Given the description of an element on the screen output the (x, y) to click on. 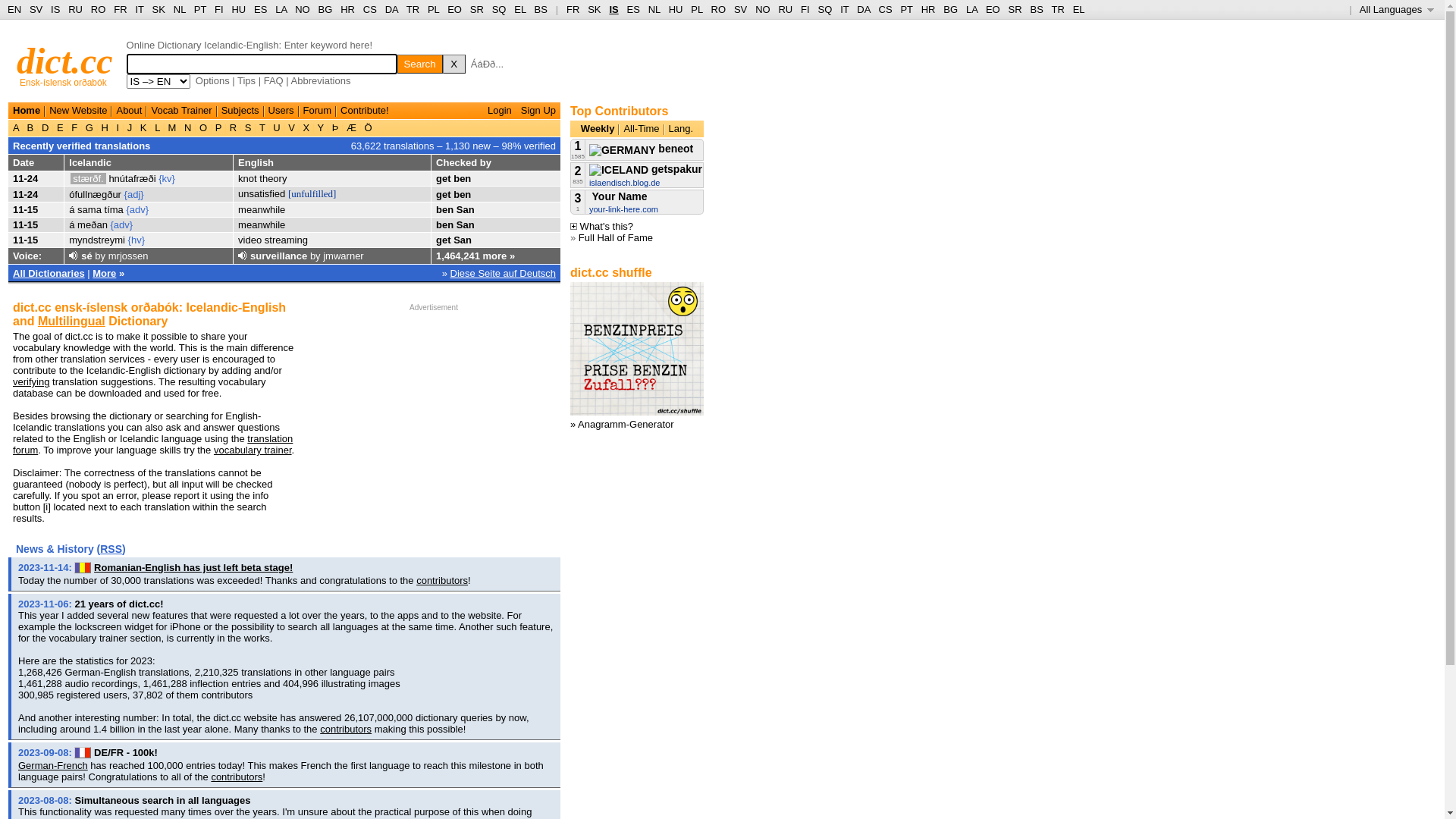
O Element type: text (202, 127)
FAQ Element type: text (273, 80)
Weekly Element type: text (597, 128)
Search Element type: text (419, 63)
San Element type: text (462, 239)
Y Element type: text (320, 127)
Romanian-English has just left beta stage! Element type: text (193, 567)
translation forum Element type: text (152, 444)
SV Element type: text (35, 9)
K Element type: text (143, 127)
your-link-here.com Element type: text (623, 208)
L Element type: text (157, 127)
beneot Element type: text (641, 148)
contributors Element type: text (441, 580)
RO Element type: text (98, 9)
TR Element type: text (412, 9)
unsatisfied [unfulfilled] Element type: text (286, 193)
meanwhile Element type: text (261, 209)
EN Element type: text (14, 9)
Multilingual Element type: text (71, 320)
SV Element type: text (740, 9)
islaendisch.blog.de Element type: text (624, 182)
Abbreviations Element type: text (321, 80)
EO Element type: text (992, 9)
DA Element type: text (862, 9)
get Element type: text (443, 178)
RU Element type: text (785, 9)
BG Element type: text (325, 9)
PT Element type: text (906, 9)
Home Element type: text (26, 110)
S Element type: text (247, 127)
R Element type: text (232, 127)
CS Element type: text (884, 9)
RO Element type: text (718, 9)
verifying Element type: text (30, 381)
get Element type: text (443, 193)
M Element type: text (171, 127)
SK Element type: text (593, 9)
SR Element type: text (476, 9)
PL Element type: text (696, 9)
Login Element type: text (499, 110)
About Element type: text (128, 110)
All Languages  Element type: text (1396, 9)
11-15 Element type: text (24, 209)
Voice: Element type: text (26, 255)
NO Element type: text (762, 9)
HU Element type: text (675, 9)
NL Element type: text (654, 9)
SK Element type: text (158, 9)
Subjects Element type: text (240, 110)
ben Element type: text (461, 193)
contributors Element type: text (345, 728)
Forum Element type: text (317, 110)
11-15 Element type: text (24, 224)
What's this? Element type: text (601, 226)
HR Element type: text (928, 9)
IT Element type: text (844, 9)
BS Element type: text (1035, 9)
DA Element type: text (391, 9)
ben Element type: text (444, 209)
All Dictionaries Element type: text (48, 272)
LA Element type: text (971, 9)
B Element type: text (30, 127)
FI Element type: text (804, 9)
NL Element type: text (179, 9)
HR Element type: text (347, 9)
D Element type: text (44, 127)
ES Element type: text (633, 9)
A Element type: text (16, 127)
EL Element type: text (519, 9)
EL Element type: text (1079, 9)
NO Element type: text (302, 9)
11-24 Element type: text (24, 178)
Lang. Element type: text (680, 128)
11-15 Element type: text (24, 239)
Vocab Trainer Element type: text (180, 110)
San Element type: text (465, 224)
getspakur Element type: text (645, 169)
P Element type: text (218, 127)
mrjossen Element type: text (128, 255)
G Element type: text (88, 127)
New Website Element type: text (77, 110)
meanwhile Element type: text (261, 224)
J Element type: text (129, 127)
vocabulary trainer Element type: text (252, 449)
CS Element type: text (369, 9)
Your Name Element type: text (618, 196)
IS Element type: text (54, 9)
U Element type: text (276, 127)
EO Element type: text (454, 9)
San Element type: text (465, 209)
SQ Element type: text (499, 9)
knot theory Element type: text (262, 178)
SQ Element type: text (824, 9)
LA Element type: text (280, 9)
Sign Up Element type: text (537, 110)
TR Element type: text (1057, 9)
Users Element type: text (281, 110)
X Element type: text (306, 127)
IS Element type: text (613, 9)
N Element type: text (187, 127)
PT Element type: text (200, 9)
contributors Element type: text (236, 776)
Options Element type: text (212, 80)
ben Element type: text (444, 224)
All-Time Element type: text (640, 128)
ES Element type: text (260, 9)
I Element type: text (117, 127)
ben Element type: text (461, 178)
BS Element type: text (540, 9)
F Element type: text (74, 127)
Diese Seite auf Deutsch Element type: text (502, 272)
PL Element type: text (433, 9)
Tips Element type: text (246, 80)
SR Element type: text (1015, 9)
FR Element type: text (119, 9)
BG Element type: text (950, 9)
RSS Element type: text (111, 548)
Full Hall of Fame Element type: text (615, 237)
FR Element type: text (572, 9)
jmwarner Element type: text (343, 255)
E Element type: text (59, 127)
H Element type: text (104, 127)
surveillance Element type: text (278, 255)
T Element type: text (261, 127)
German-French Element type: text (52, 765)
Contribute! Element type: text (364, 110)
FI Element type: text (218, 9)
get Element type: text (443, 239)
IT Element type: text (138, 9)
X Element type: text (453, 63)
V Element type: text (291, 127)
More Element type: text (104, 272)
dict.cc Element type: text (64, 60)
11-24 Element type: text (24, 193)
RU Element type: text (75, 9)
video streaming Element type: text (272, 239)
HU Element type: text (238, 9)
